Given the description of an element on the screen output the (x, y) to click on. 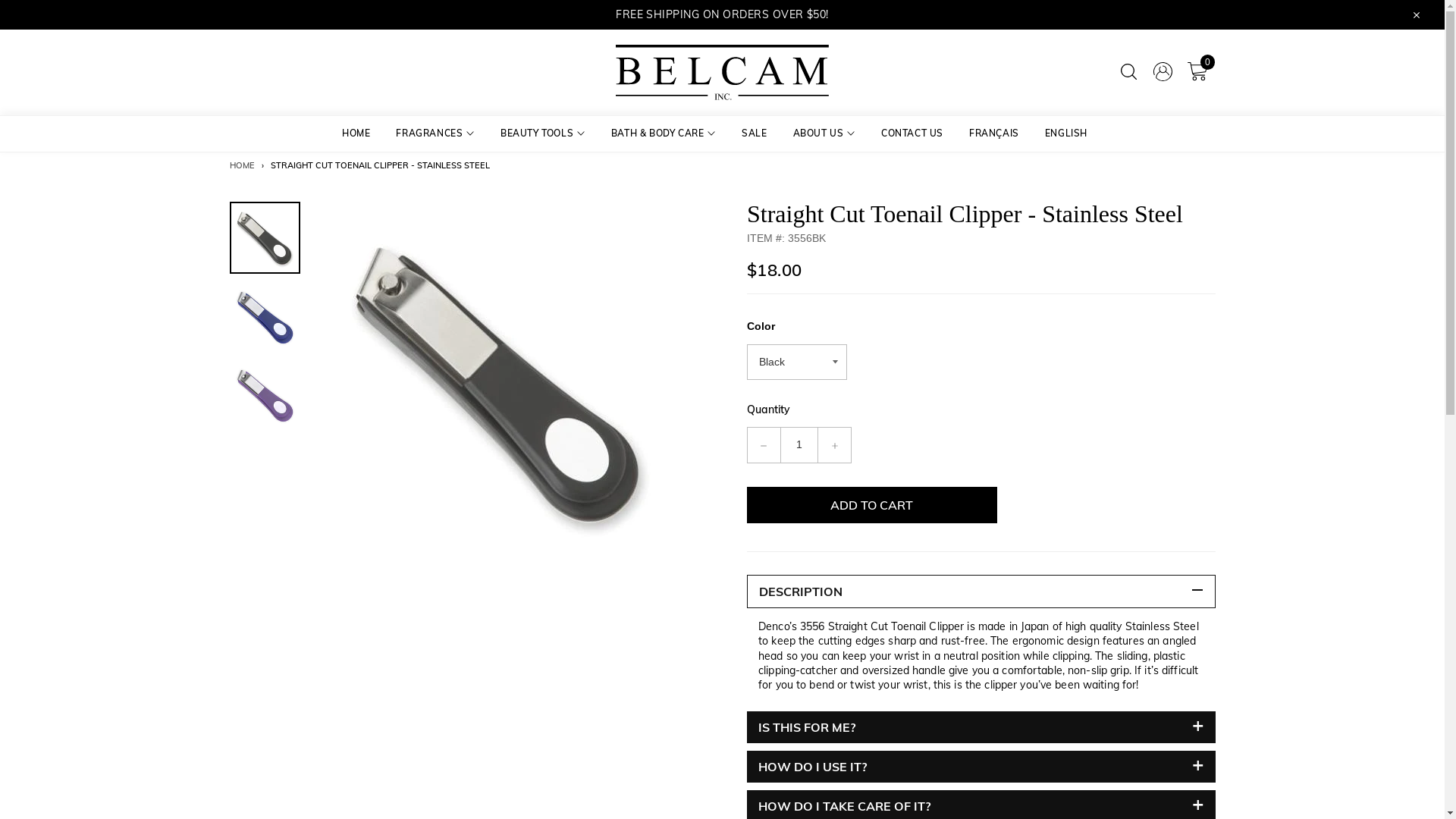
HOME Element type: text (241, 165)
ADD TO CART Element type: text (920, 249)
HOME Element type: text (355, 133)
ADD TO CART Element type: text (1116, 249)
Search Element type: text (1128, 72)
BEAUTY TOOLS Element type: text (542, 133)
FREE SHIPPING ON ORDERS OVER $50! Element type: text (722, 14)
ADD TO CART Element type: text (871, 504)
ABOUT US Element type: text (823, 133)
ADD TO CART Element type: text (722, 249)
+ Element type: text (834, 444)
FRAGRANCES Element type: text (435, 133)
CONTACT US Element type: text (911, 133)
Close Element type: text (1415, 14)
0 Element type: text (1196, 72)
SALE Element type: text (754, 133)
ADD TO CART Element type: text (525, 249)
ENGLISH Element type: text (1065, 133)
BATH & BODY CARE Element type: text (663, 133)
